Given the description of an element on the screen output the (x, y) to click on. 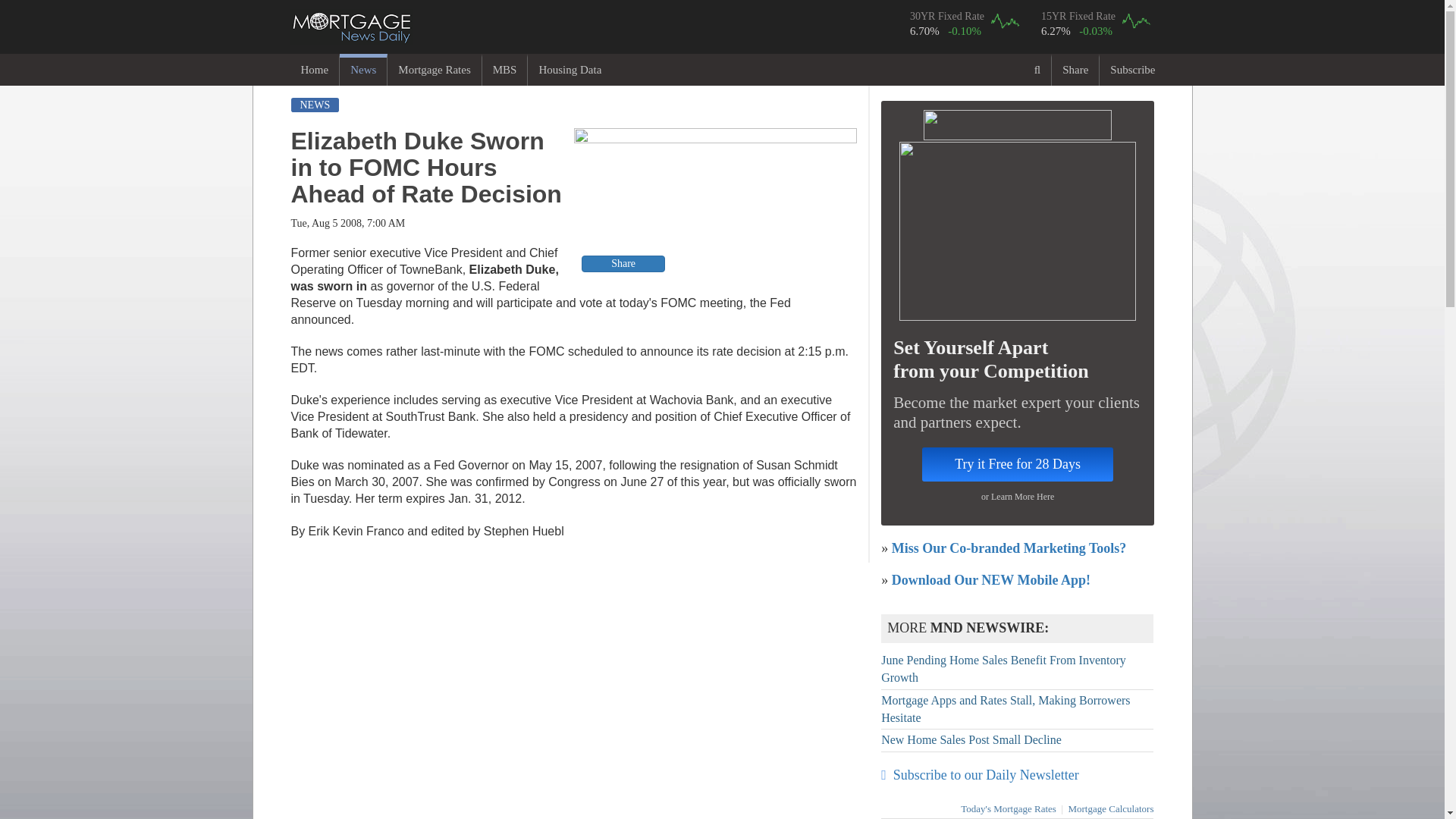
Mortgage Rates (434, 69)
News (363, 69)
Home (314, 69)
Preview (715, 201)
